Given the description of an element on the screen output the (x, y) to click on. 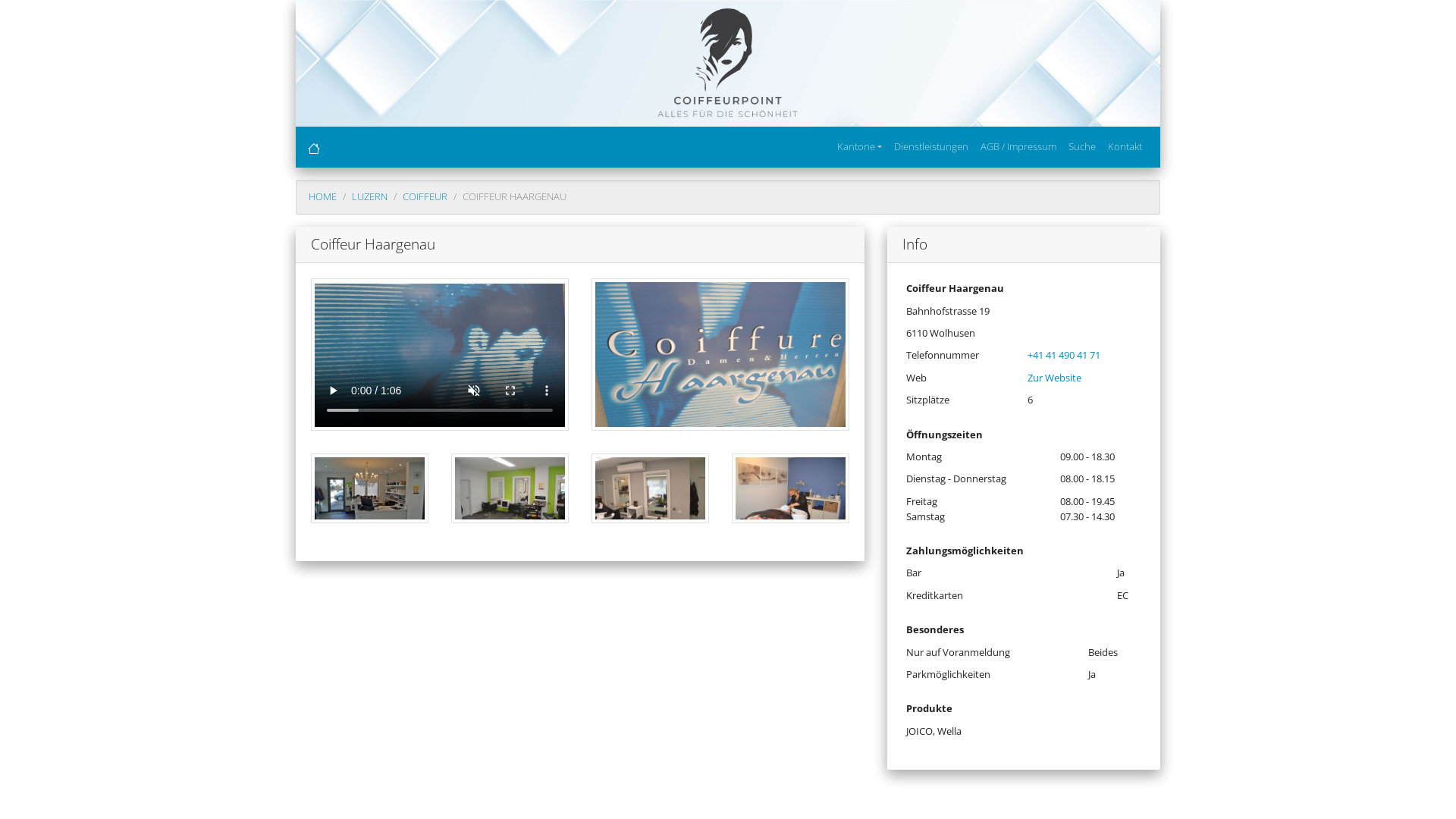
AGB / Impressum Element type: text (1018, 146)
Zur Website Element type: text (1054, 377)
HOME Element type: text (322, 196)
COIFFEUR Element type: text (424, 196)
+41 41 490 41 71 Element type: text (1063, 354)
Kontakt Element type: text (1124, 146)
Suche Element type: text (1081, 146)
Dienstleistungen Element type: text (931, 146)
LUZERN Element type: text (369, 196)
Kantone Element type: text (859, 146)
